Given the description of an element on the screen output the (x, y) to click on. 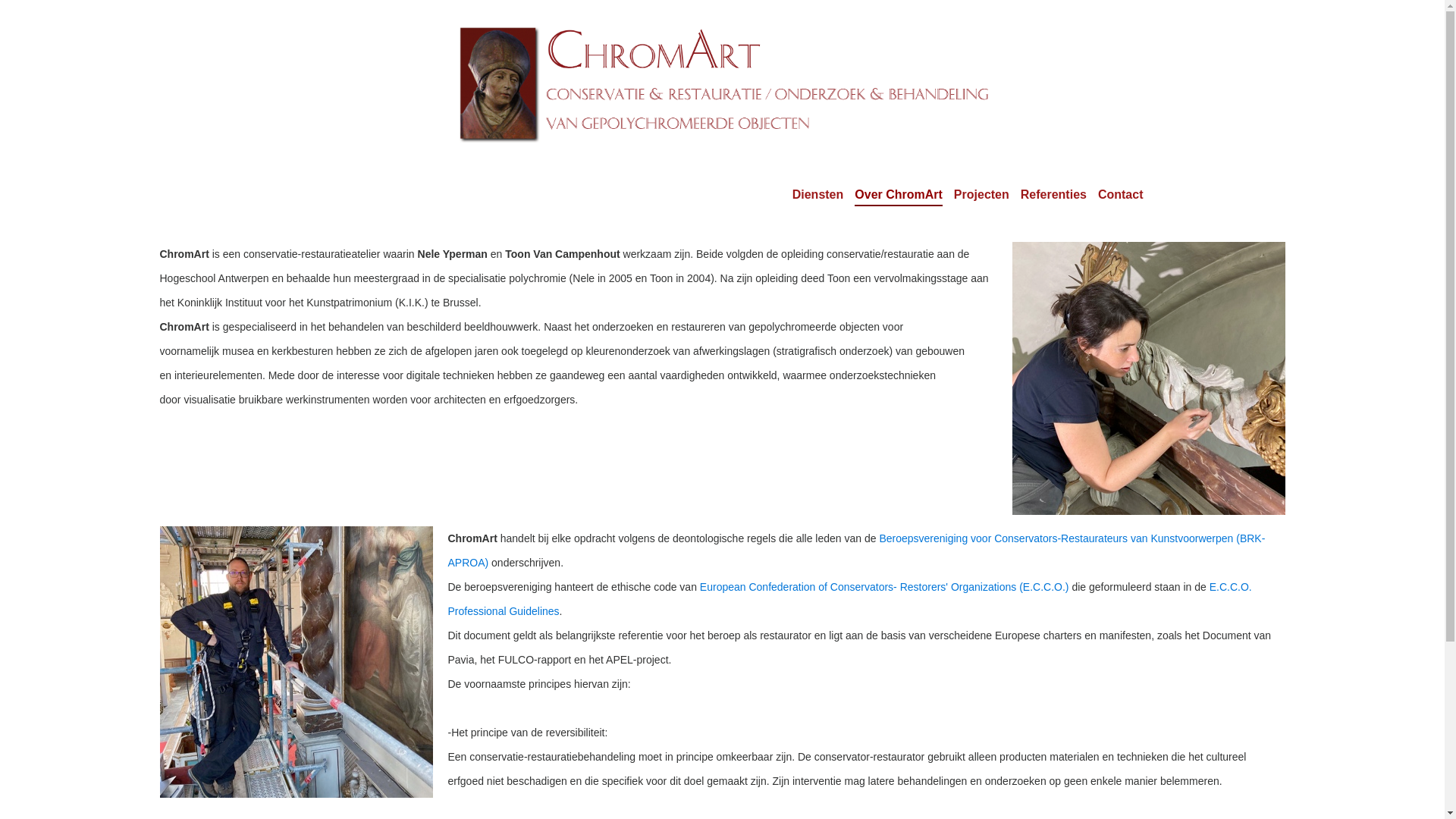
Over ChromArt Element type: text (898, 197)
E.C.C.O. Professional Guidelines Element type: text (849, 598)
Diensten Element type: text (818, 194)
Contact Element type: text (1120, 194)
Referenties Element type: text (1053, 194)
Projecten Element type: text (981, 194)
